Given the description of an element on the screen output the (x, y) to click on. 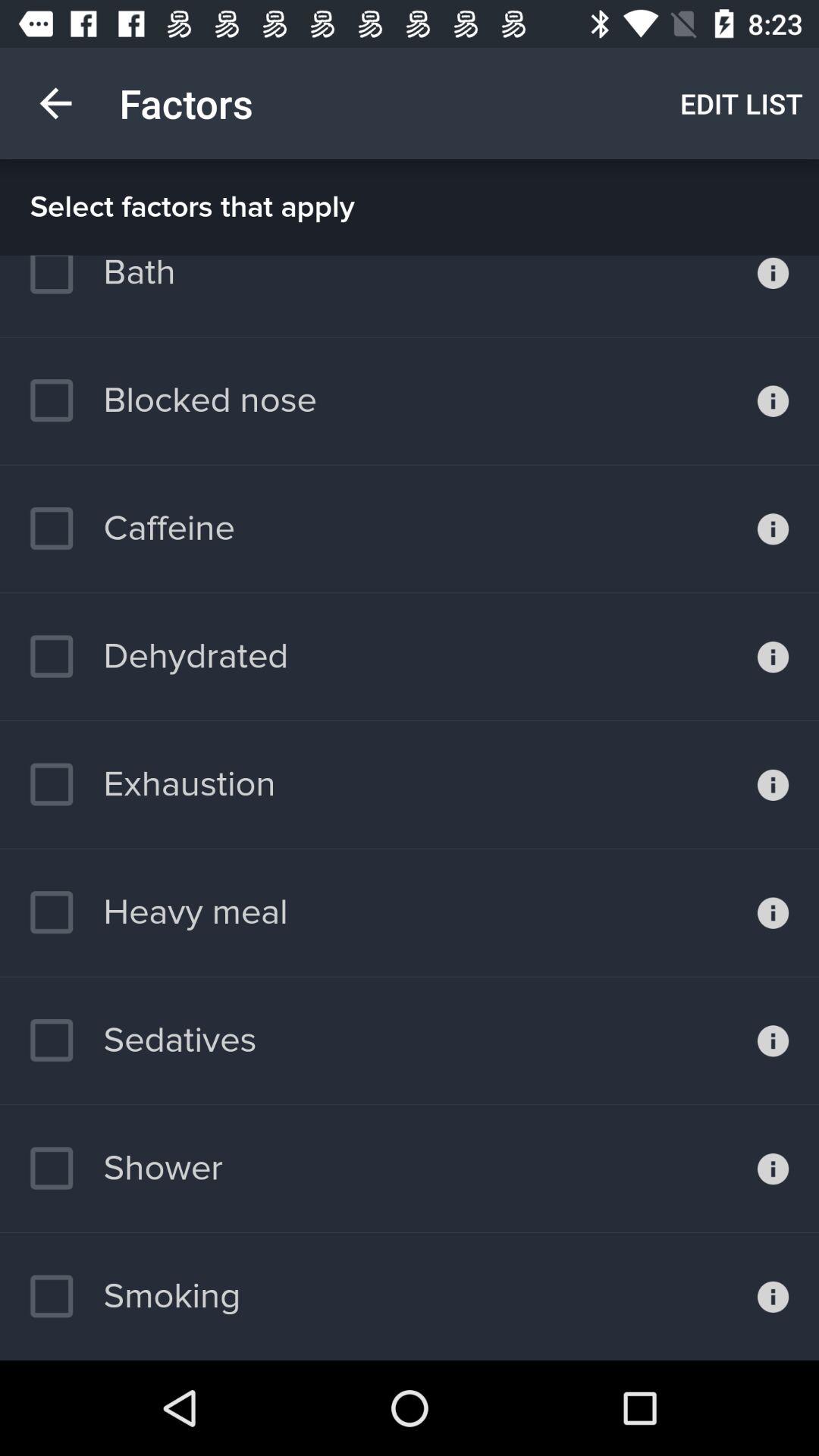
click caffeine item (132, 528)
